Given the description of an element on the screen output the (x, y) to click on. 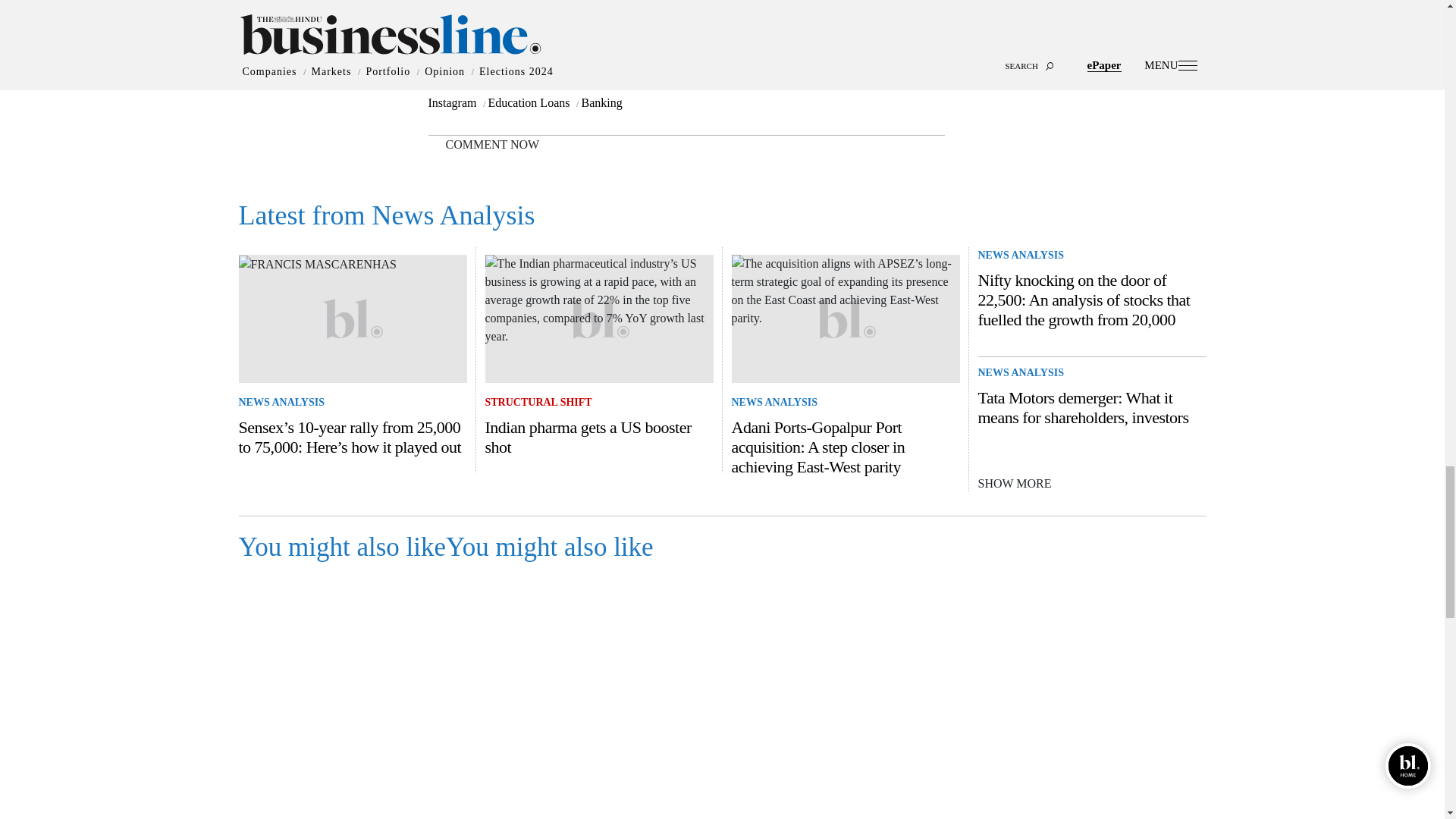
FRANCIS MASCARENHAS (317, 264)
